Given the description of an element on the screen output the (x, y) to click on. 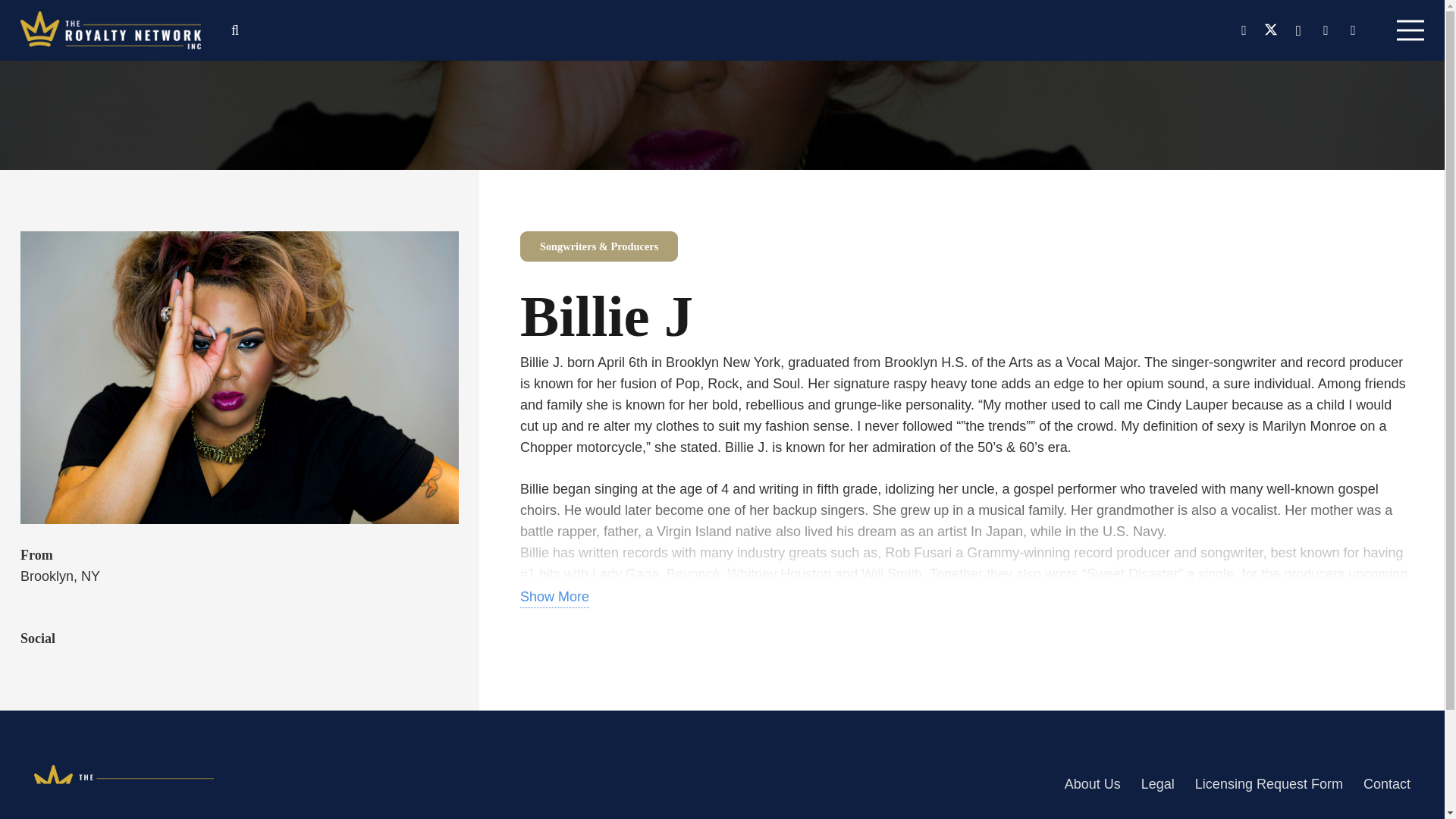
Twitter (1270, 30)
LinkedIn (1325, 30)
Instagram (1297, 30)
Facebook (1243, 30)
Spotify (1353, 30)
